Given the description of an element on the screen output the (x, y) to click on. 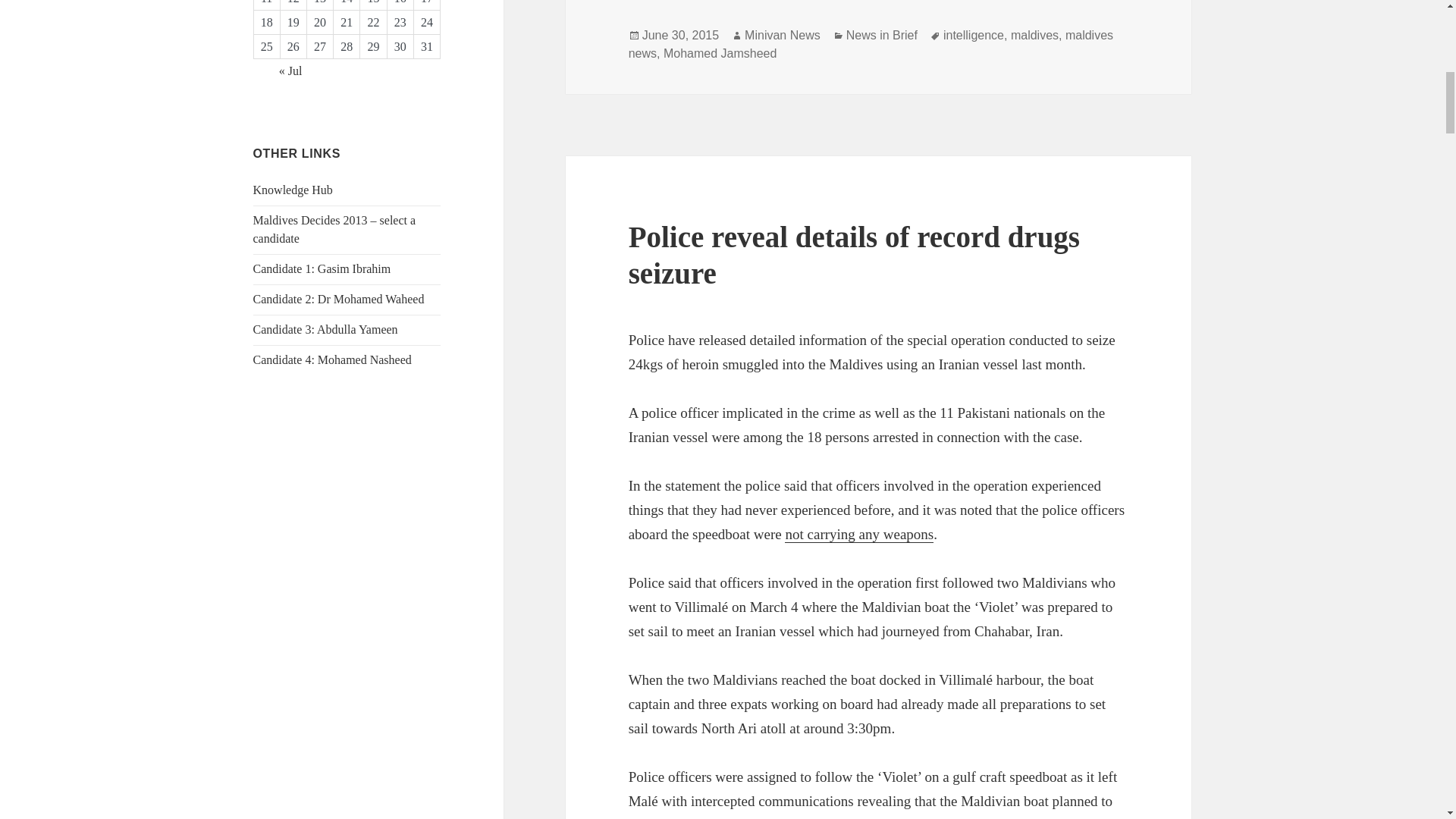
Candidate 4: Mohamed Nasheed (332, 359)
not carrying any weapons (858, 534)
Knowledge Hub (293, 189)
Minivan News (782, 35)
maldives (1034, 35)
Candidate 2: Dr Mohamed Waheed (339, 298)
intelligence (973, 35)
Candidate 1: Gasim Ibrahim (322, 268)
News in Brief (881, 35)
Mohamed Jamsheed (719, 53)
June 30, 2015 (680, 35)
Police reveal details of record drugs seizure (854, 254)
Candidate 3: Abdulla Yameen (325, 328)
maldives news (870, 44)
